Given the description of an element on the screen output the (x, y) to click on. 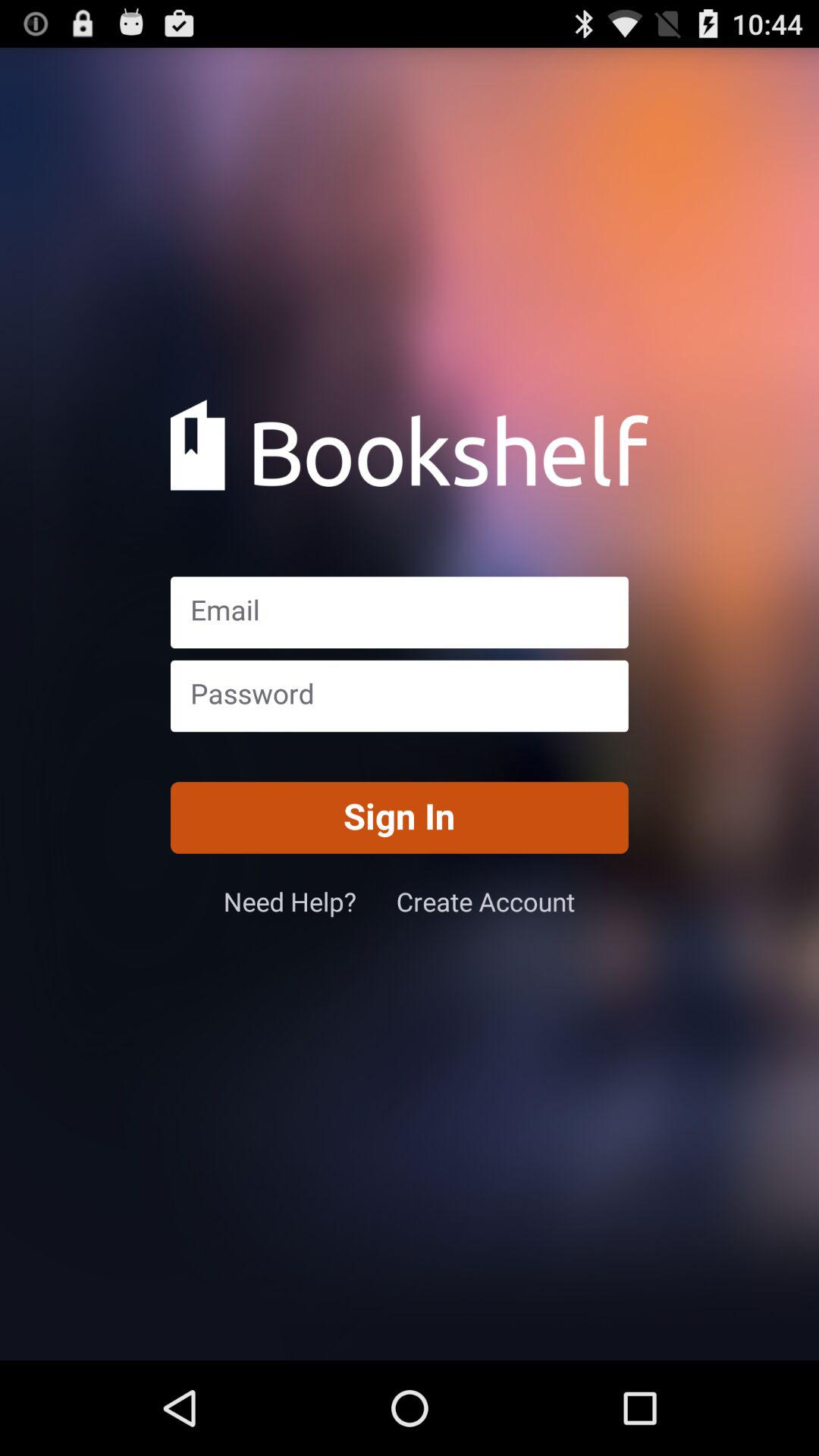
jump to create account button (485, 901)
